Given the description of an element on the screen output the (x, y) to click on. 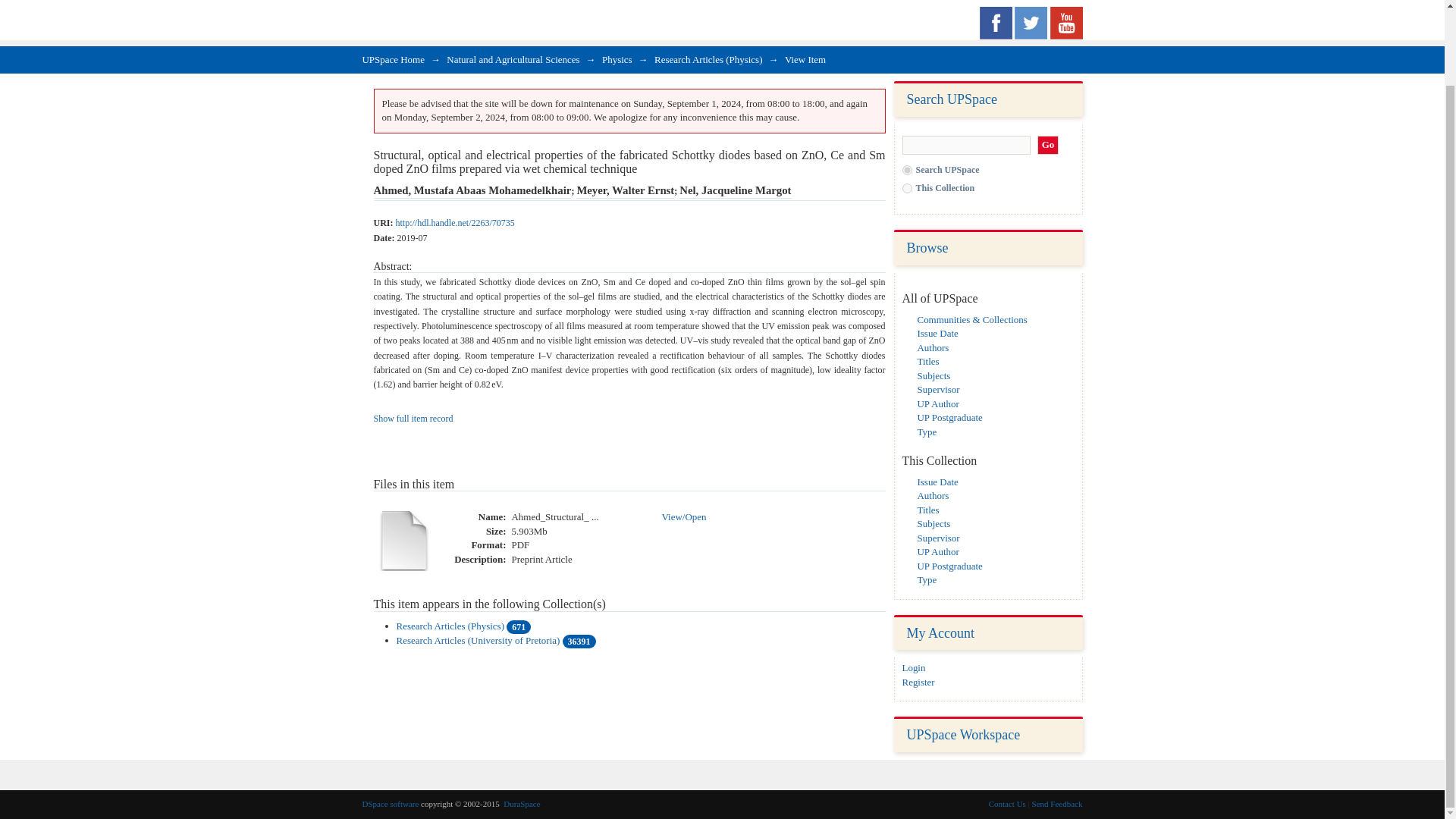
Titles (928, 509)
Subjects (933, 374)
Register (918, 681)
Supervisor (938, 537)
Go (1047, 144)
Go (1047, 144)
UP Postgraduate (949, 565)
Send Feedback (1057, 803)
UP Author (938, 403)
Show full item record (412, 418)
